Given the description of an element on the screen output the (x, y) to click on. 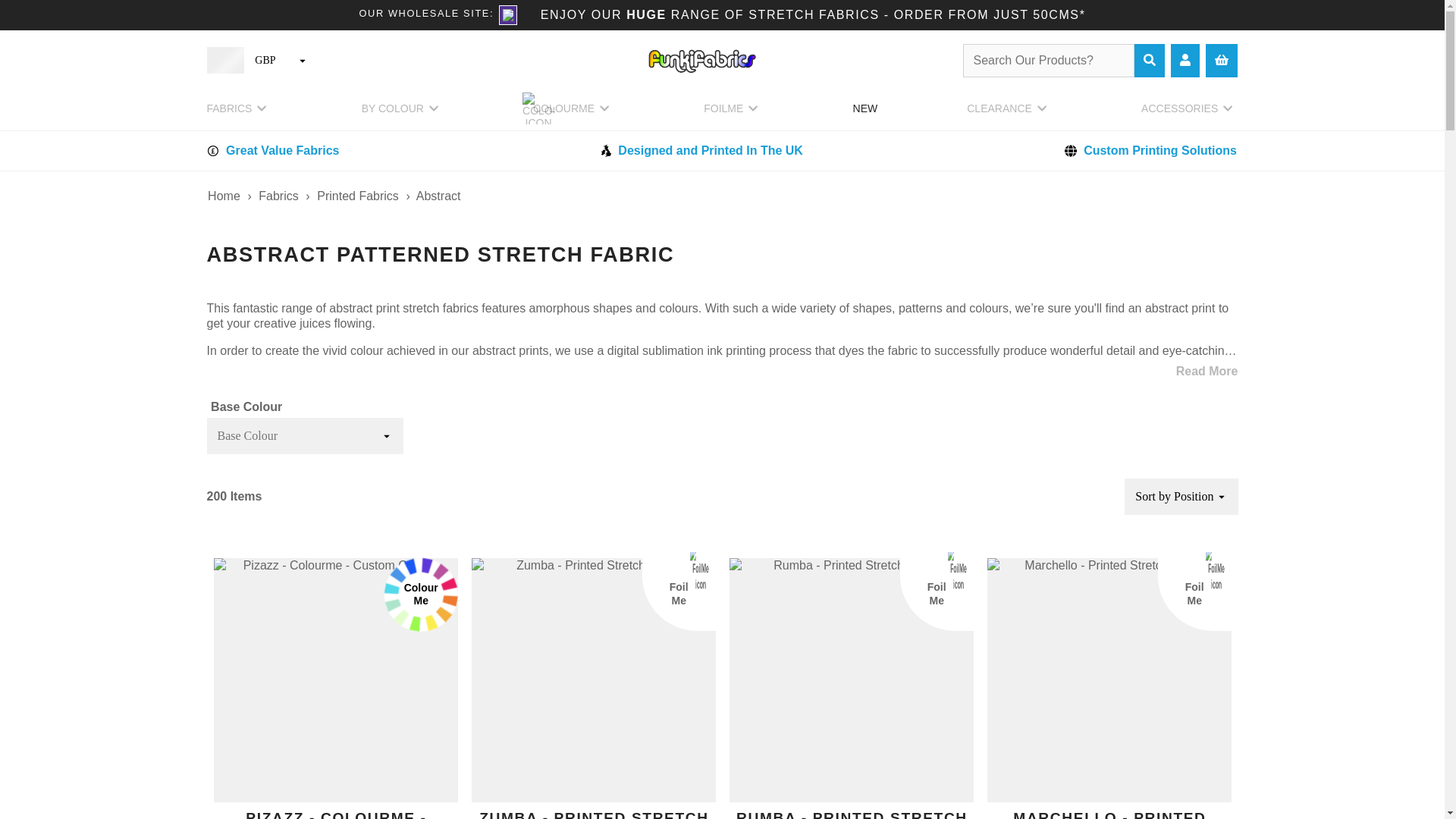
open (386, 435)
open (1220, 496)
open (302, 60)
FABRICS (238, 113)
